Given the description of an element on the screen output the (x, y) to click on. 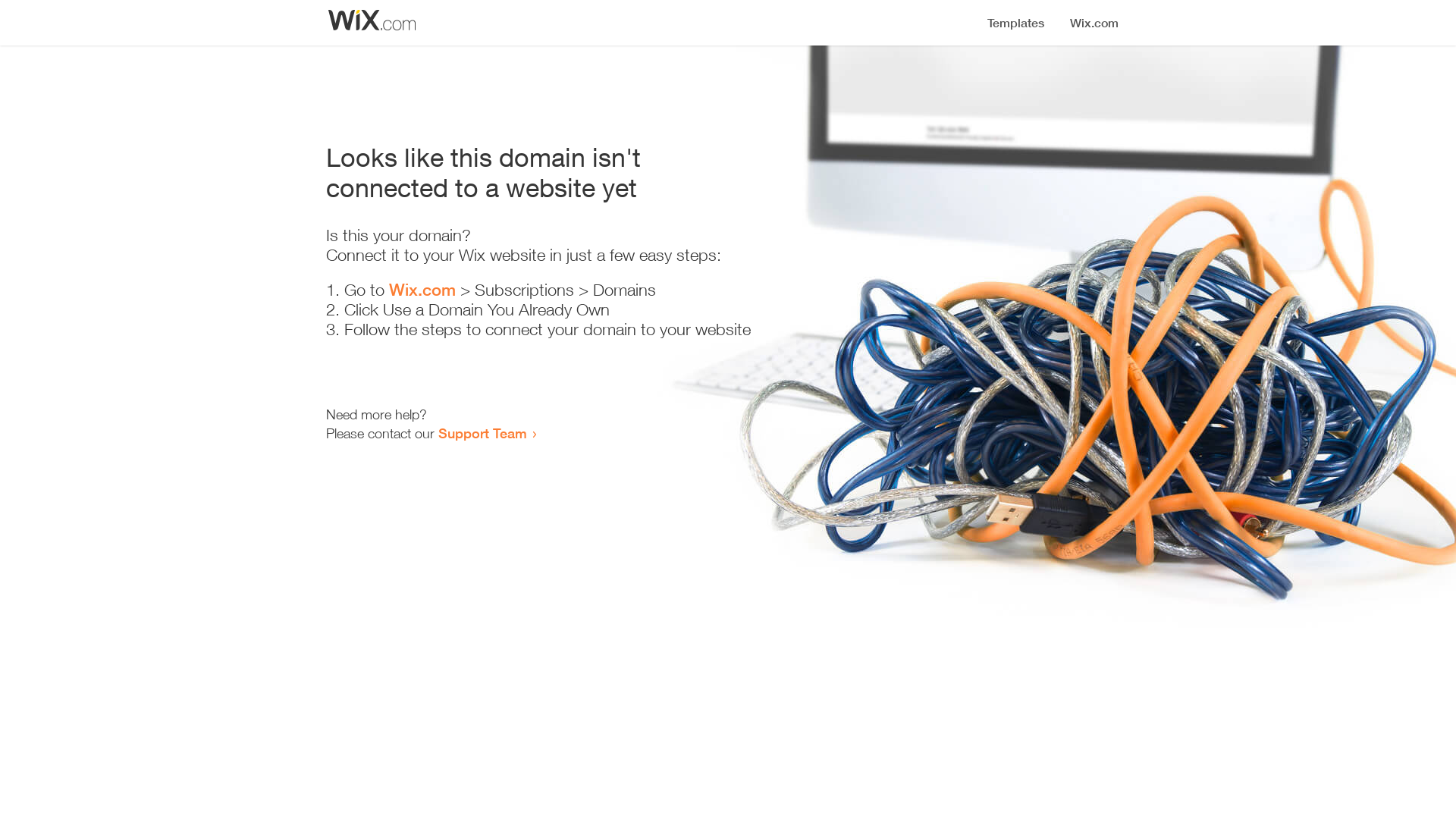
Wix.com Element type: text (422, 289)
Support Team Element type: text (482, 432)
